Given the description of an element on the screen output the (x, y) to click on. 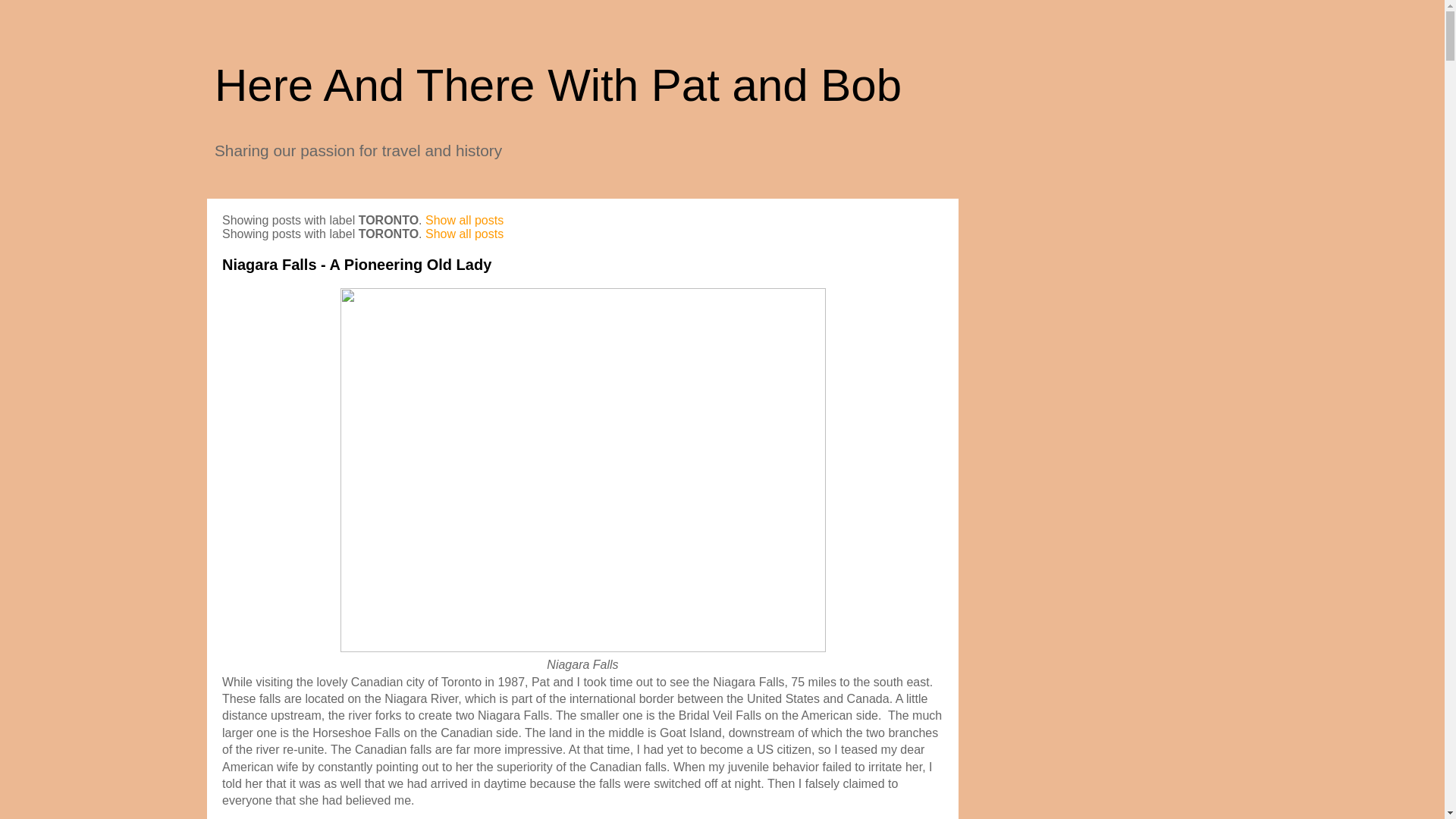
Here And There With Pat and Bob (557, 84)
Niagara Falls - A Pioneering Old Lady (357, 264)
Show all posts (464, 219)
Show all posts (464, 233)
